Given the description of an element on the screen output the (x, y) to click on. 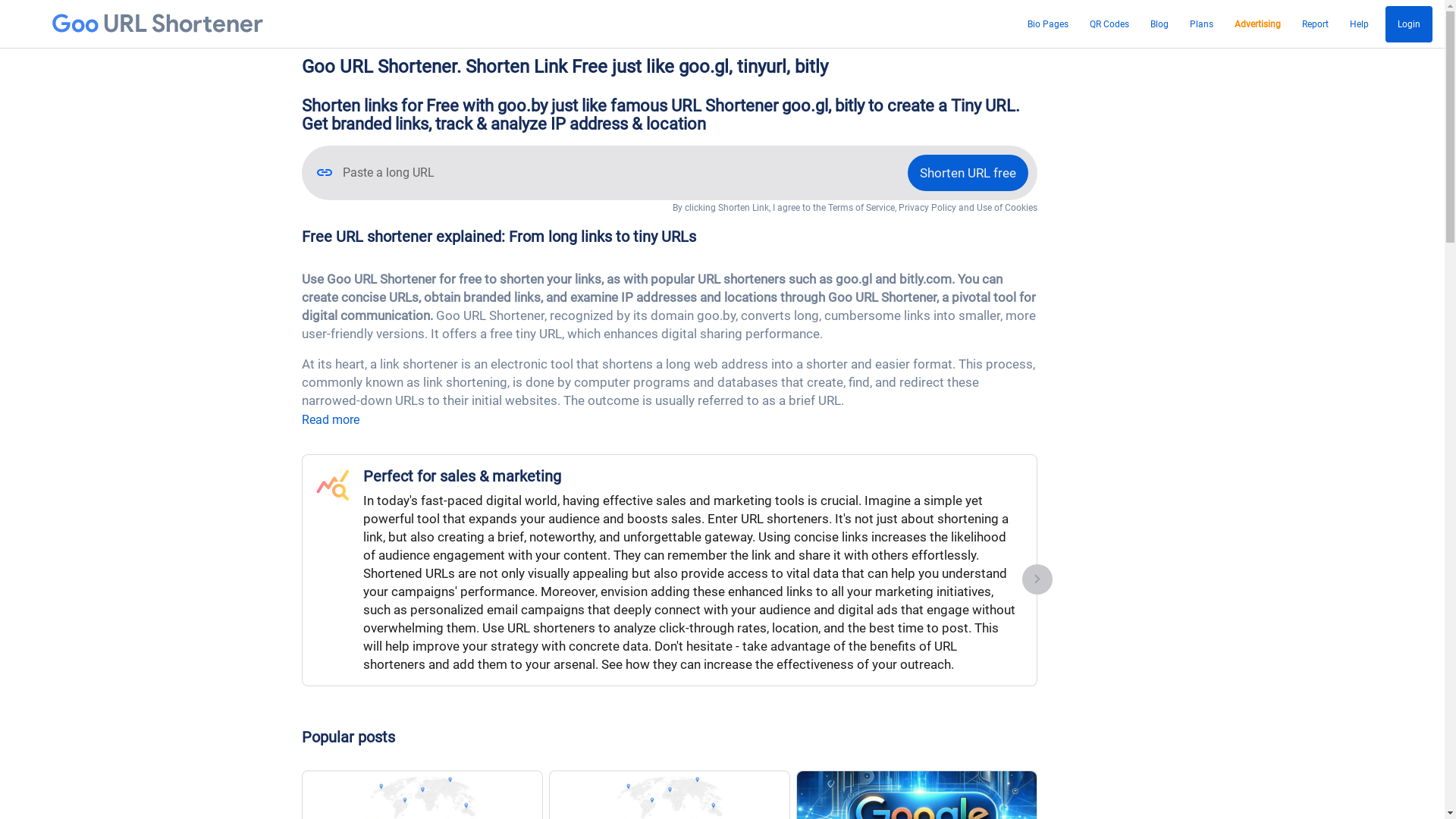
Read more Element type: text (330, 419)
Plans Element type: text (1201, 24)
Advertising Element type: text (1257, 24)
Shorten URL free Element type: text (966, 172)
Help Element type: text (1359, 24)
QR Codes Element type: text (1109, 24)
Blog Element type: text (1159, 24)
Bio Pages Element type: text (1047, 24)
Report Element type: text (1315, 24)
Login Element type: text (1408, 24)
